Given the description of an element on the screen output the (x, y) to click on. 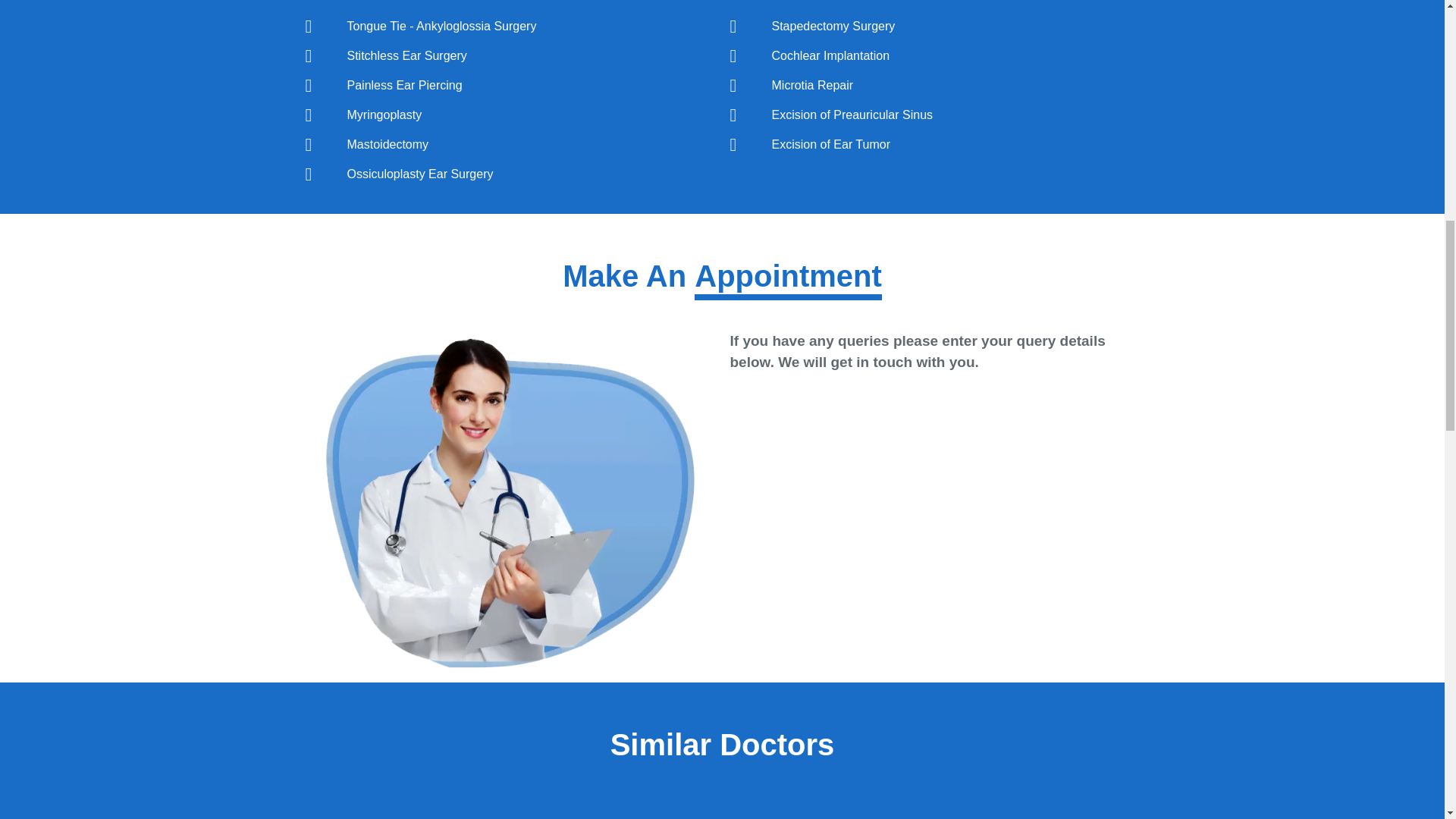
Similar Doctors (722, 749)
Make An Appointment (722, 283)
